Given the description of an element on the screen output the (x, y) to click on. 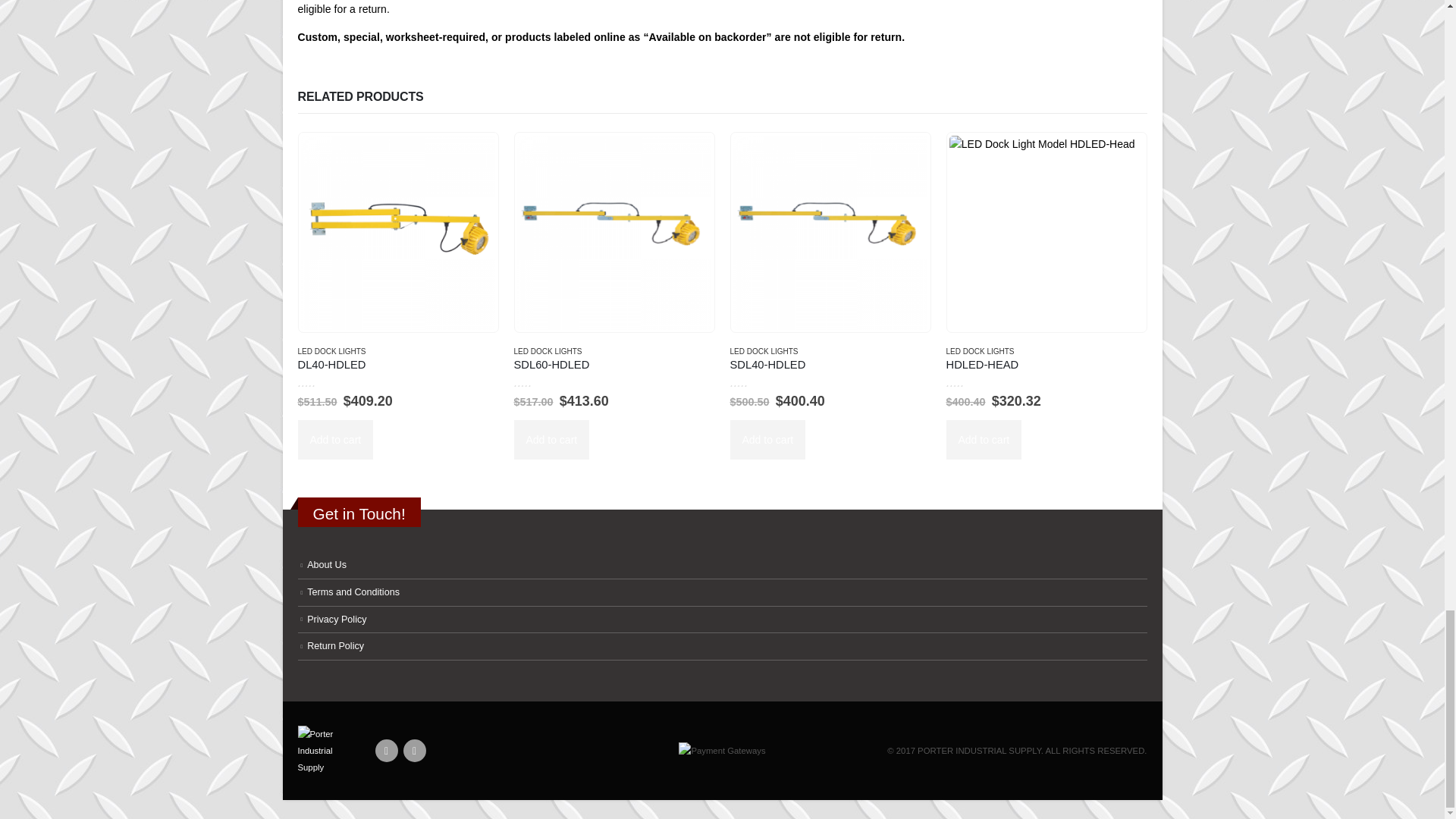
0 (322, 382)
0 (538, 382)
